Given the description of an element on the screen output the (x, y) to click on. 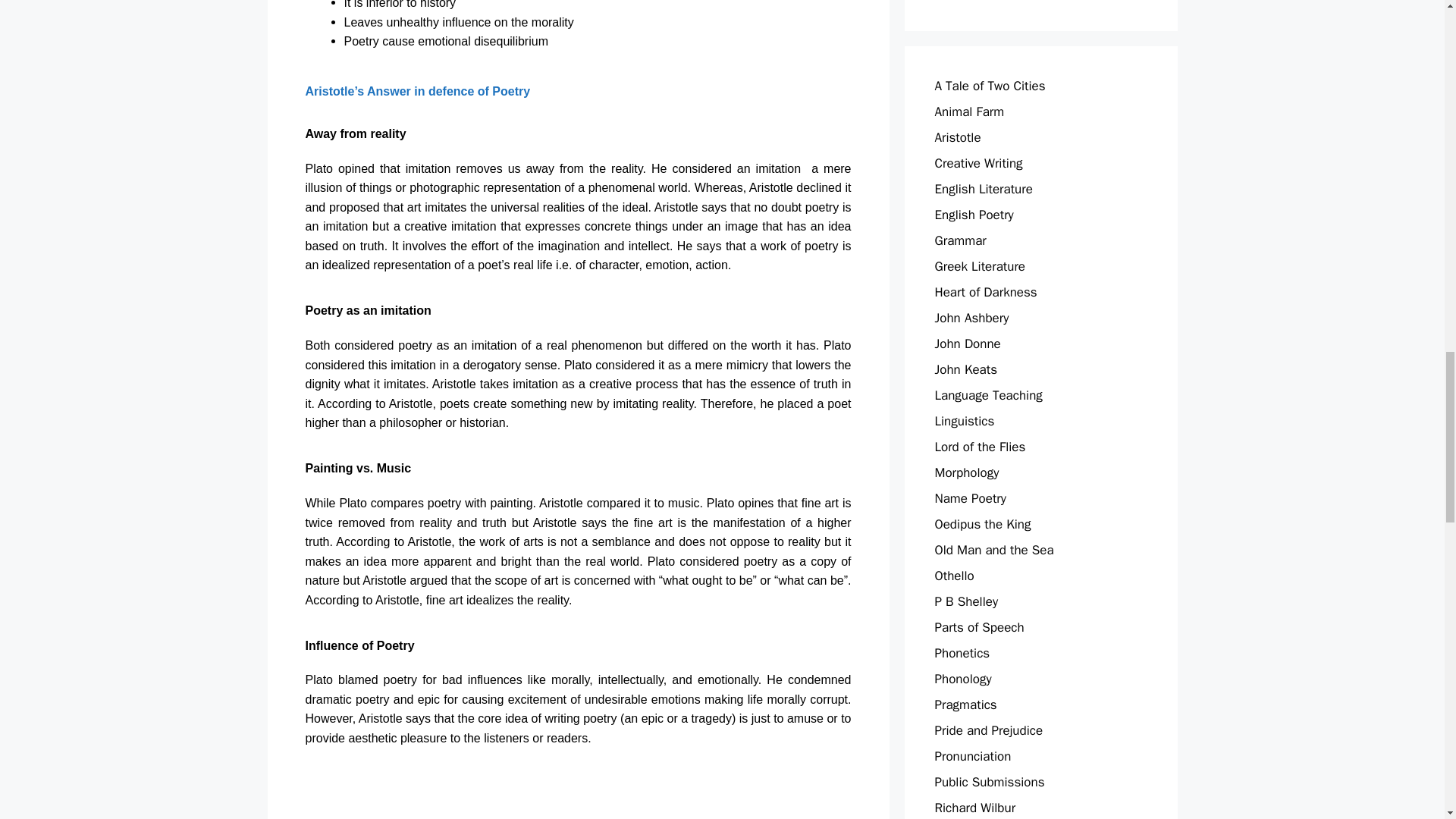
Creative Writing (978, 162)
Advertisement (598, 793)
Heart of Darkness (985, 291)
Animal Farm (969, 110)
Grammar (959, 239)
Aristotle (956, 136)
A Tale of Two Cities (989, 84)
English Poetry (973, 213)
Greek Literature (979, 265)
English Literature (983, 188)
